Given the description of an element on the screen output the (x, y) to click on. 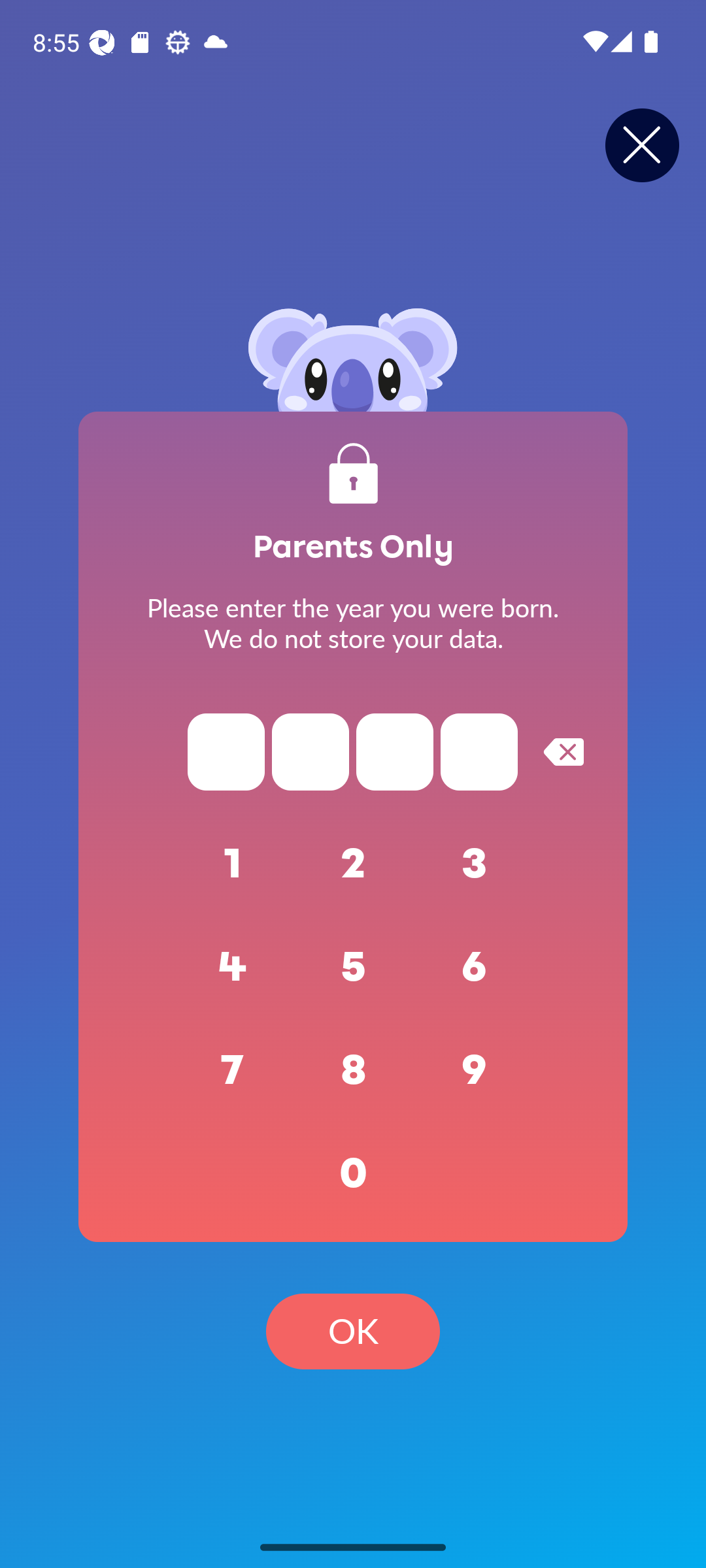
Delete (563, 751)
1 (232, 863)
2 (353, 863)
3 (474, 863)
4 (232, 966)
5 (353, 966)
6 (474, 966)
7 (232, 1069)
8 (353, 1069)
9 (474, 1069)
0 (353, 1173)
OK (352, 1331)
